Given the description of an element on the screen output the (x, y) to click on. 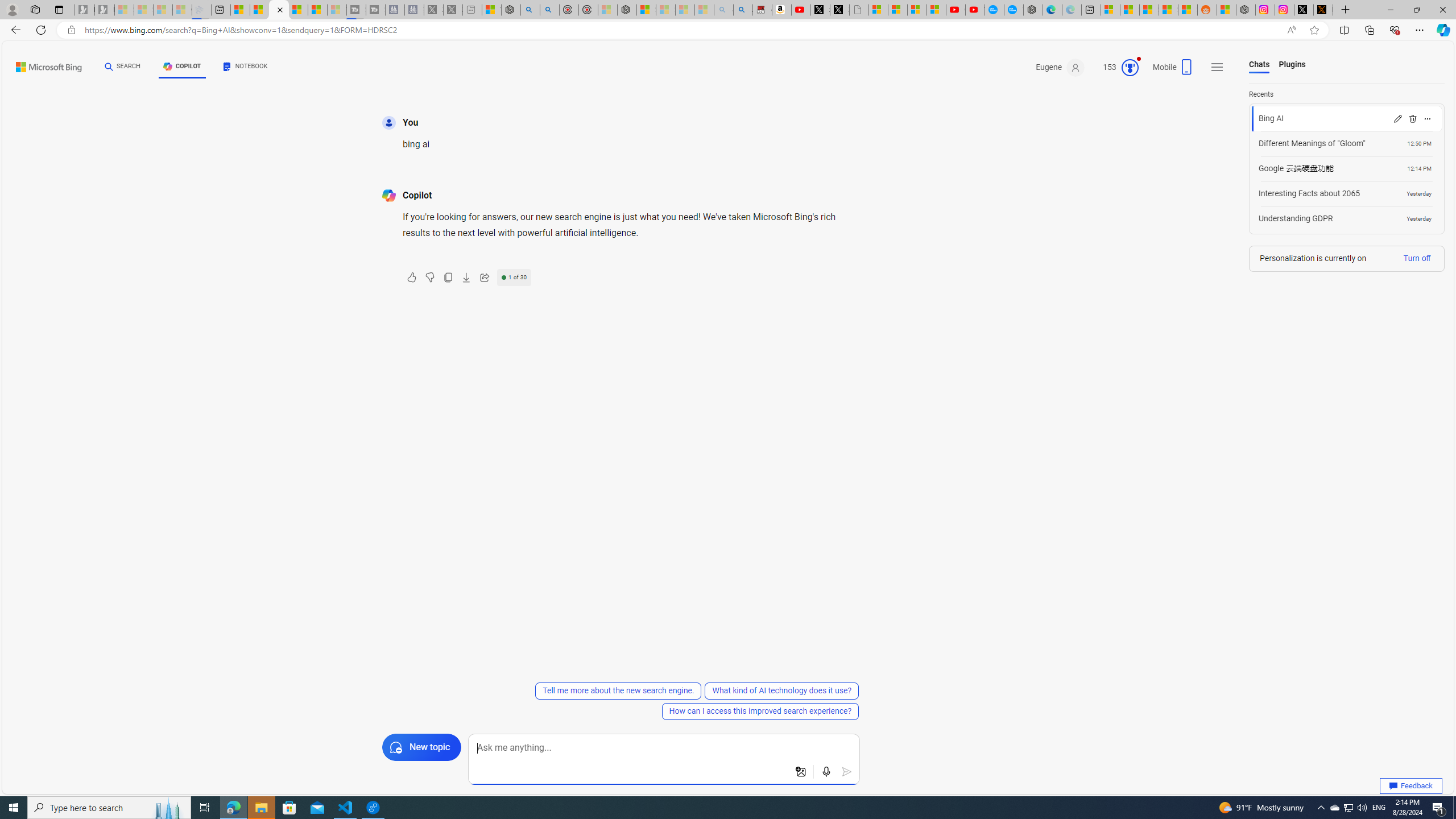
Nordace - Nordace Siena Is Not An Ordinary Backpack (627, 9)
Delete (1412, 118)
Plugins (1292, 65)
YouTube Kids - An App Created for Kids to Explore Content (975, 9)
Load chat (1346, 218)
Day 1: Arriving in Yemen (surreal to be here) - YouTube (800, 9)
How can I access this improved search experience? (759, 711)
Export (466, 277)
